Given the description of an element on the screen output the (x, y) to click on. 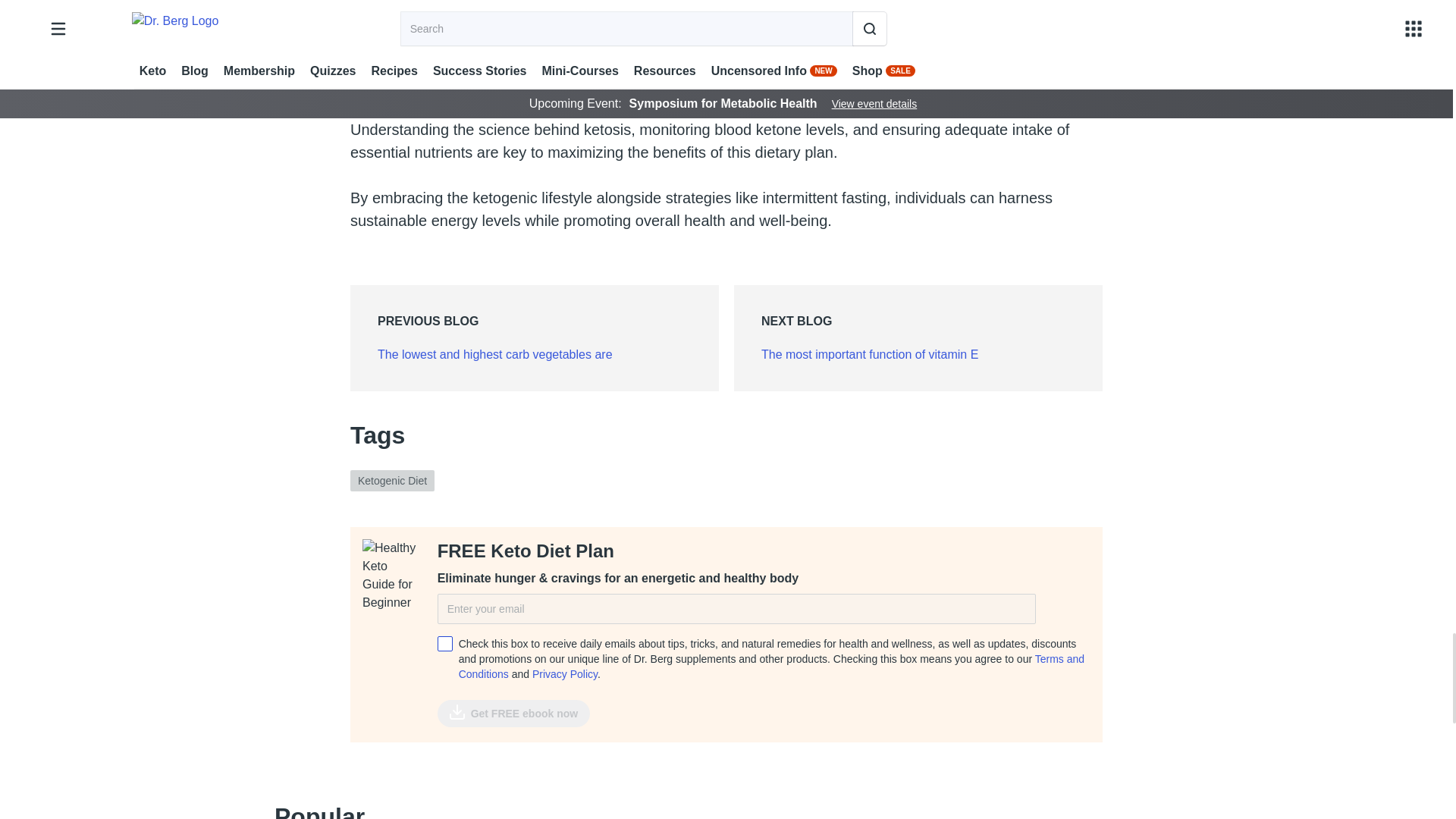
Get FREE ebook now (514, 713)
Ketogenic Diet (391, 480)
The lowest and highest carb vegetables are (494, 354)
The most important function of vitamin E (869, 354)
